Given the description of an element on the screen output the (x, y) to click on. 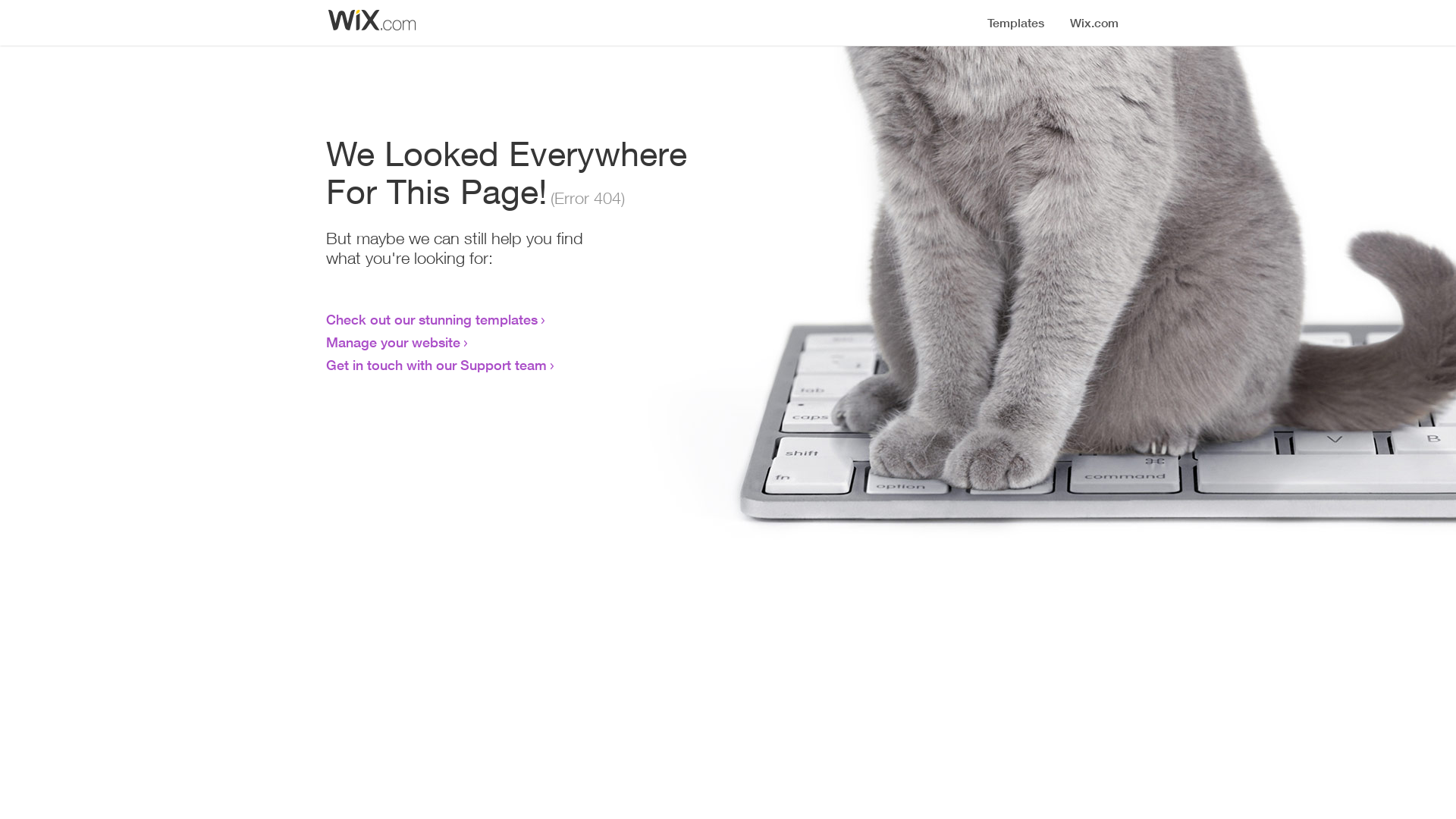
Get in touch with our Support team Element type: text (436, 364)
Manage your website Element type: text (393, 341)
Check out our stunning templates Element type: text (431, 318)
